Given the description of an element on the screen output the (x, y) to click on. 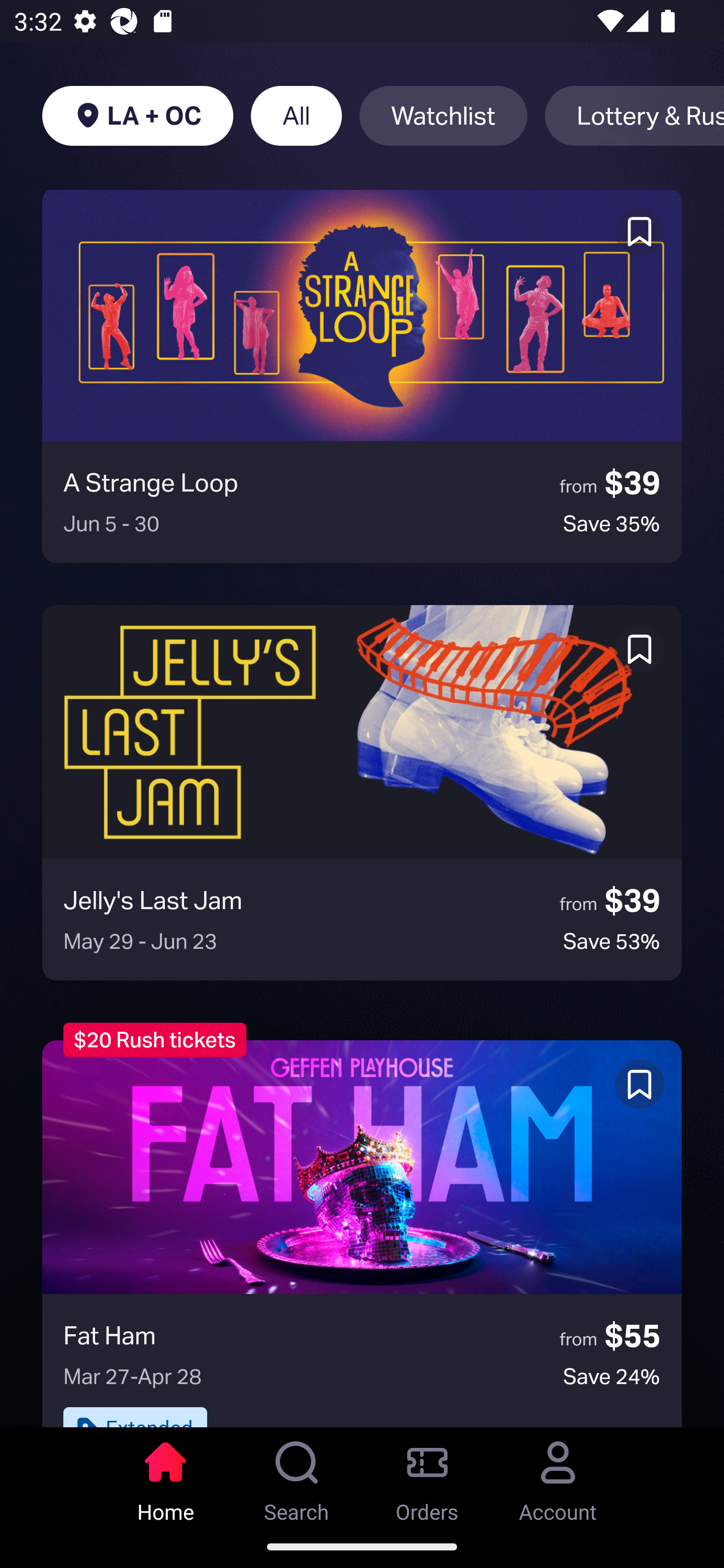
LA + OC (137, 115)
All (296, 115)
Watchlist (443, 115)
Lottery & Rush (634, 115)
A Strange Loop from $39 Jun 5 - 30 Save 35% (361, 375)
Jelly's Last Jam from $39 May 29 - Jun 23 Save 53% (361, 792)
Fat Ham from $55 Mar 27-Apr 28 Save 24% Extended (361, 1232)
Search (296, 1475)
Orders (427, 1475)
Account (558, 1475)
